Given the description of an element on the screen output the (x, y) to click on. 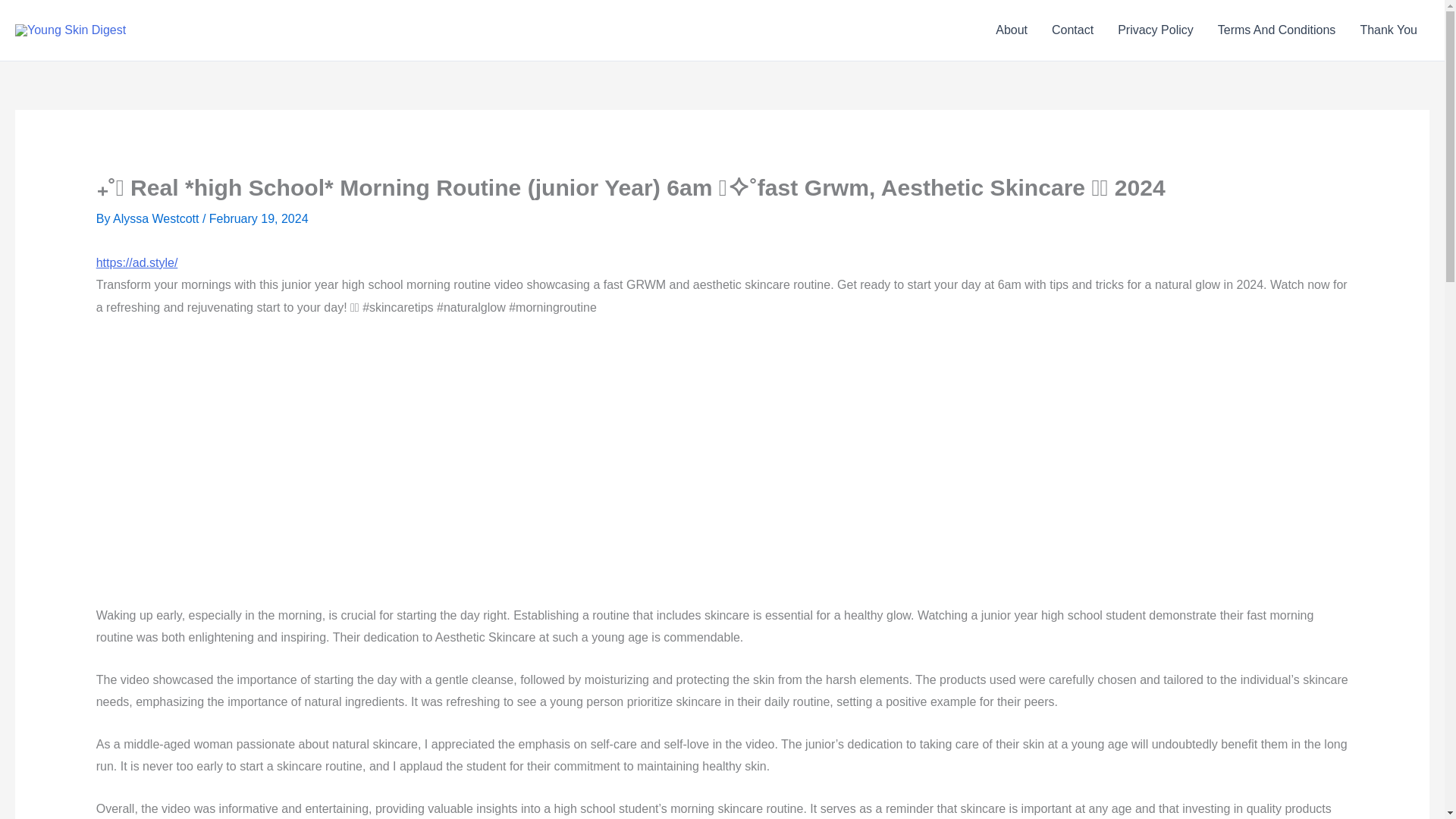
About (1011, 30)
Privacy Policy (1155, 30)
View all posts by Alyssa Westcott (157, 218)
Contact (1072, 30)
Alyssa Westcott (157, 218)
Terms And Conditions (1276, 30)
Thank You (1388, 30)
